Given the description of an element on the screen output the (x, y) to click on. 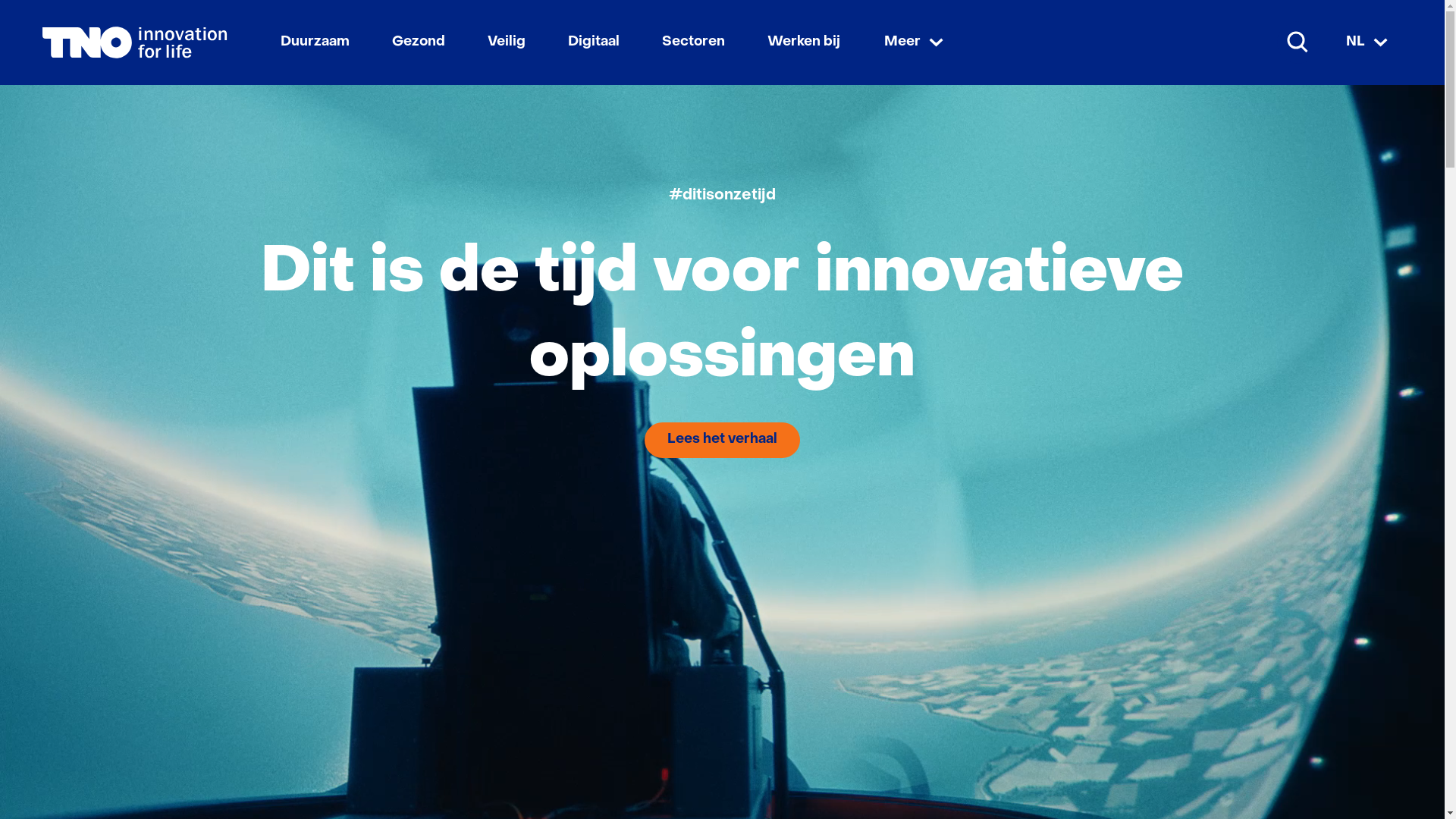
Geselecteerde taal:
NL Element type: text (1368, 42)
Sectoren Element type: text (693, 42)
Veilig Element type: text (506, 42)
Werken bij Element type: text (803, 42)
Ga naar inhoud Element type: text (722, 8)
Digitaal Element type: text (593, 42)
Gezond Element type: text (418, 42)
Lees het verhaal Element type: text (722, 439)
Duurzaam Element type: text (314, 42)
Meer Element type: text (915, 42)
